Given the description of an element on the screen output the (x, y) to click on. 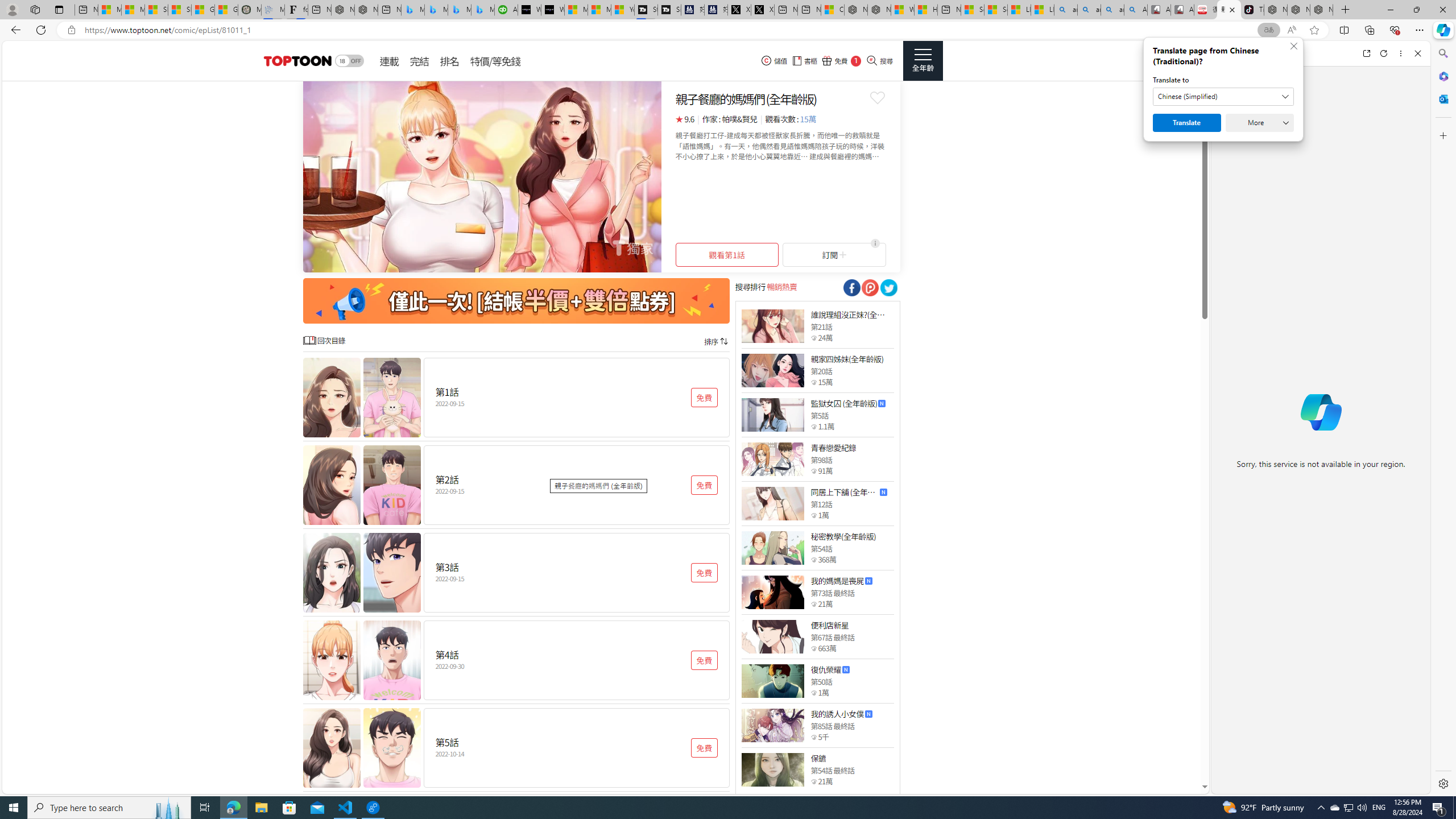
Outlook (1442, 98)
Amazon Echo Robot - Search Images (1135, 9)
Nordace - #1 Japanese Best-Seller - Siena Smart Backpack (365, 9)
Search (1442, 53)
